Given the description of an element on the screen output the (x, y) to click on. 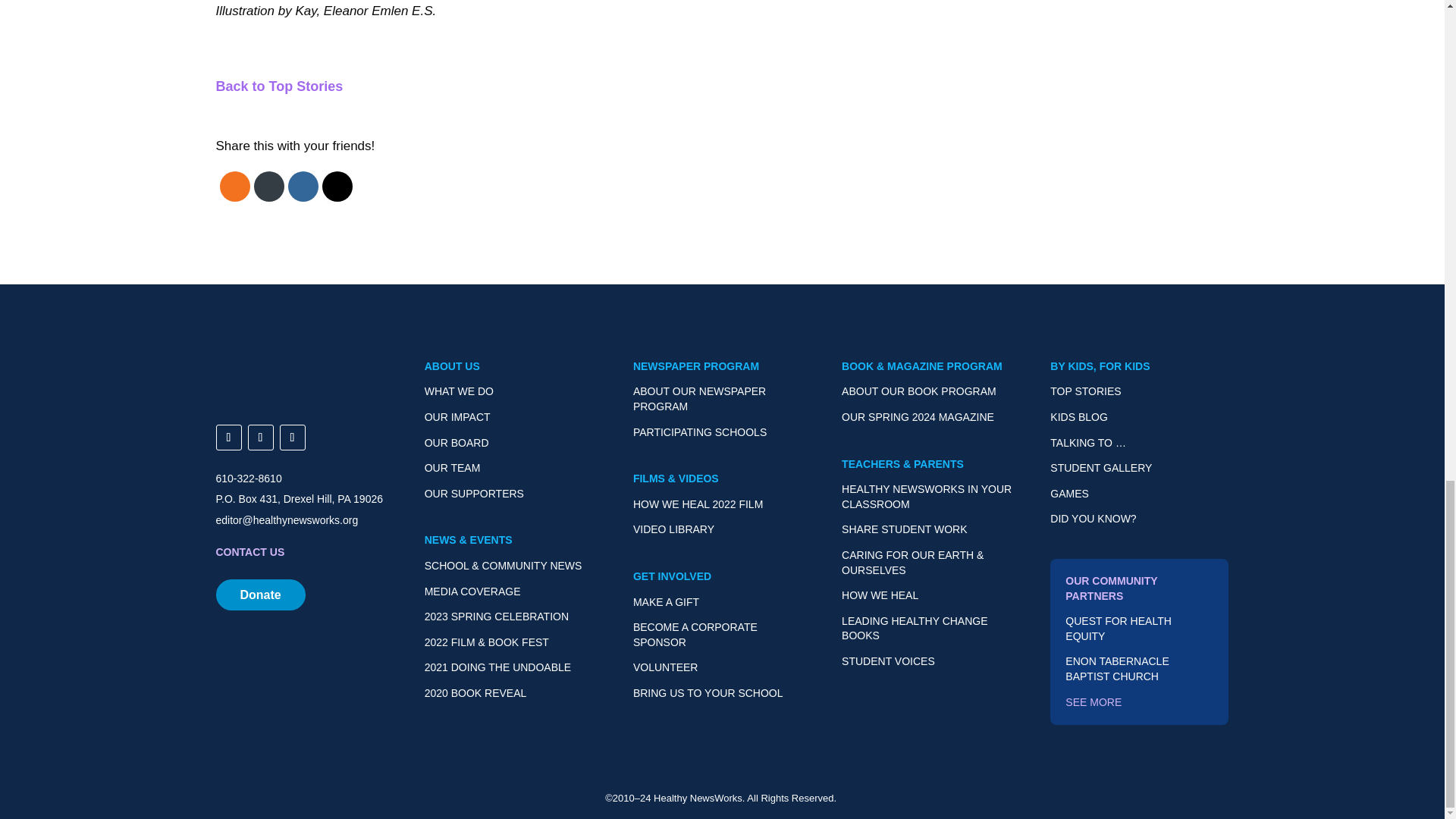
Follow on Instagram (260, 437)
WHAT WE DO (459, 390)
Follow by Email (269, 186)
Twitter (337, 186)
Back to Top Stories (278, 86)
Donate (259, 594)
CONTACT US (249, 551)
Facebook (302, 186)
610-322-8610 (248, 478)
RSS (234, 186)
Follow on LinkedIn (291, 437)
Follow on Facebook (228, 437)
